Given the description of an element on the screen output the (x, y) to click on. 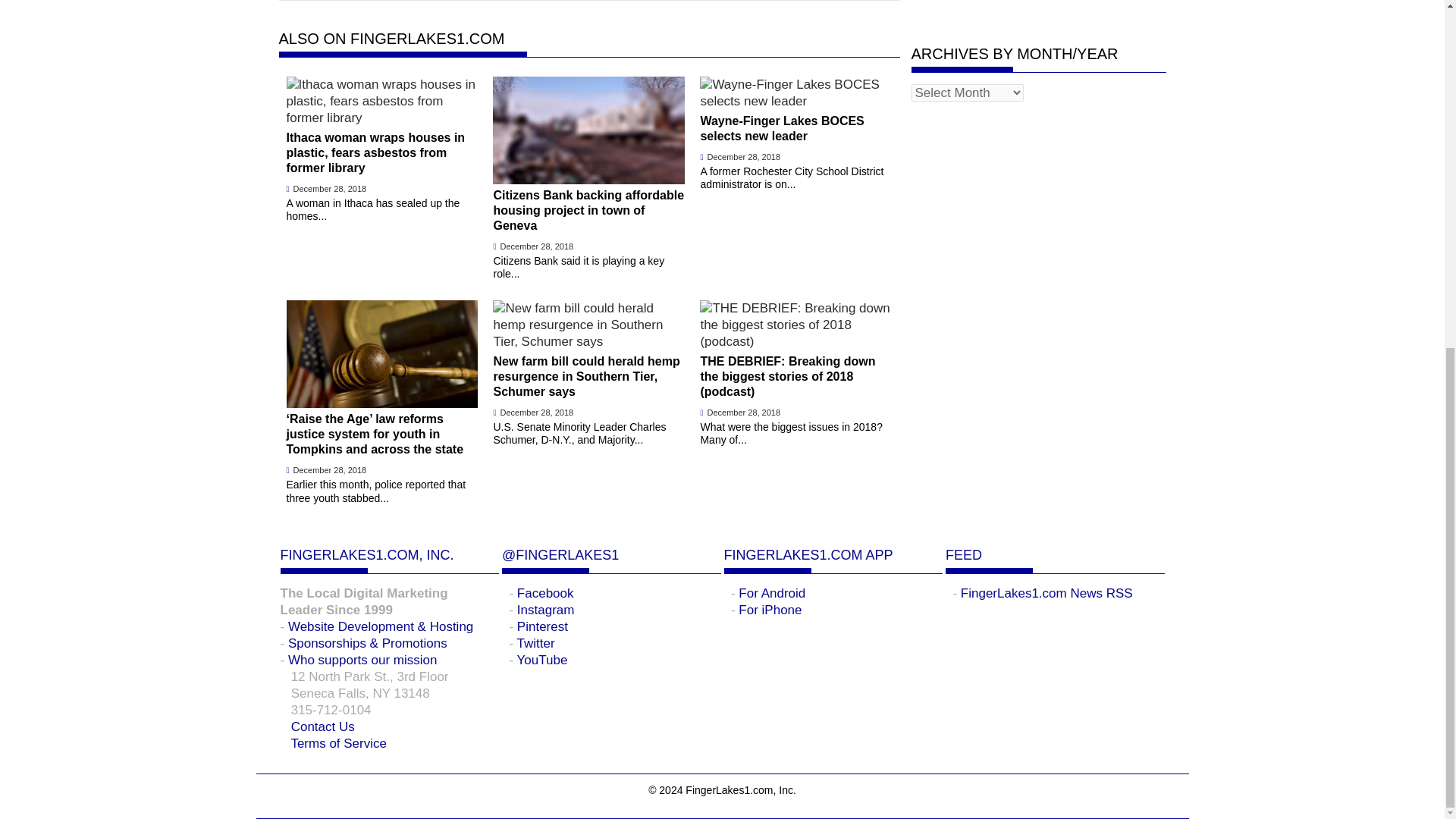
December 28, 2018 (743, 156)
December 28, 2018 (330, 188)
December 28, 2018 (330, 470)
Wayne-Finger Lakes BOCES selects new leader (795, 119)
December 28, 2018 (536, 245)
